Given the description of an element on the screen output the (x, y) to click on. 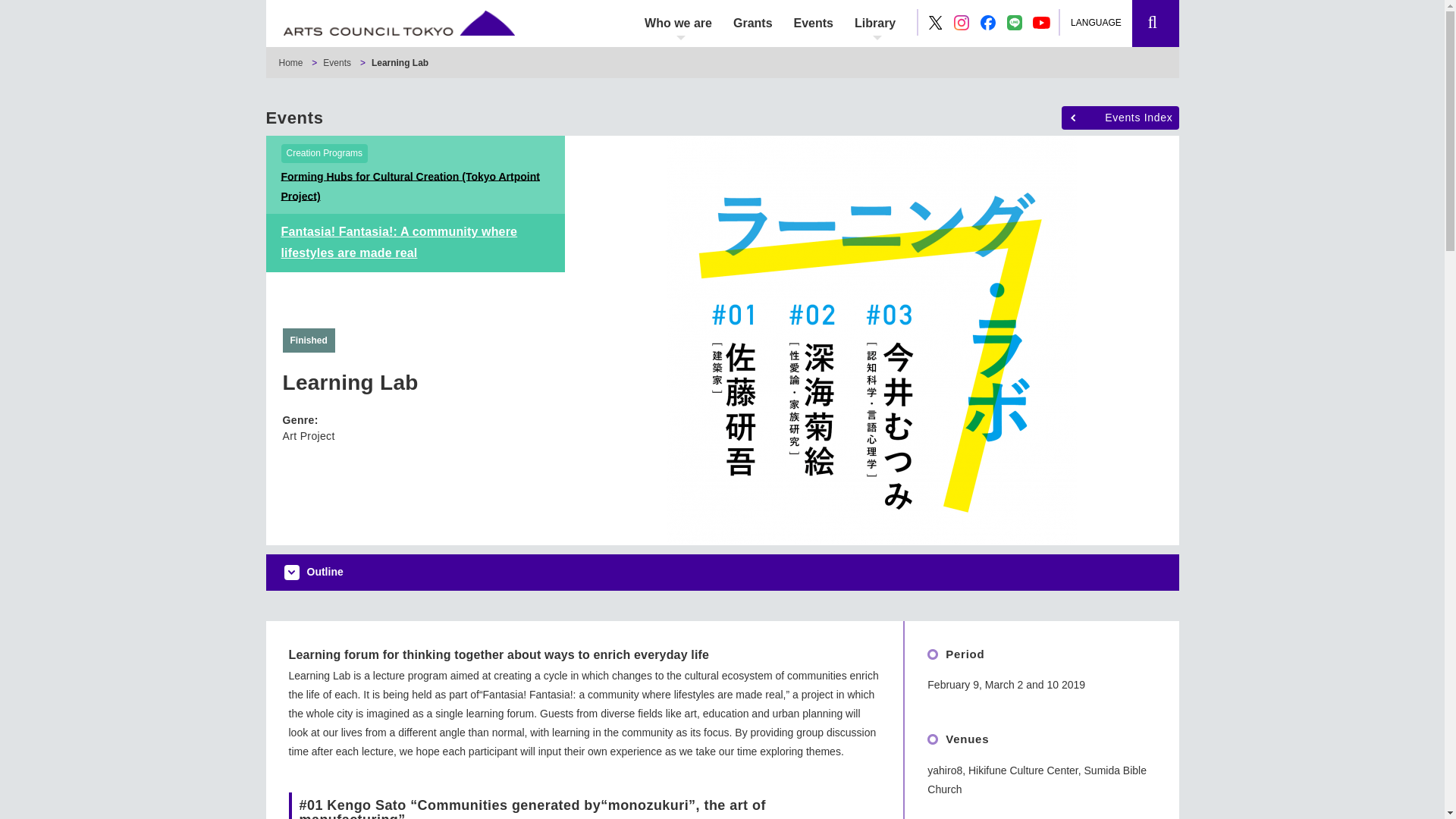
LANGUAGE (1102, 22)
Instagram (961, 22)
Who we are (678, 23)
Facebook (987, 22)
Instagram (961, 22)
YouTube (1041, 22)
Facebook (987, 22)
LINE (1015, 22)
LINE (1014, 22)
YouTube (1040, 22)
